Given the description of an element on the screen output the (x, y) to click on. 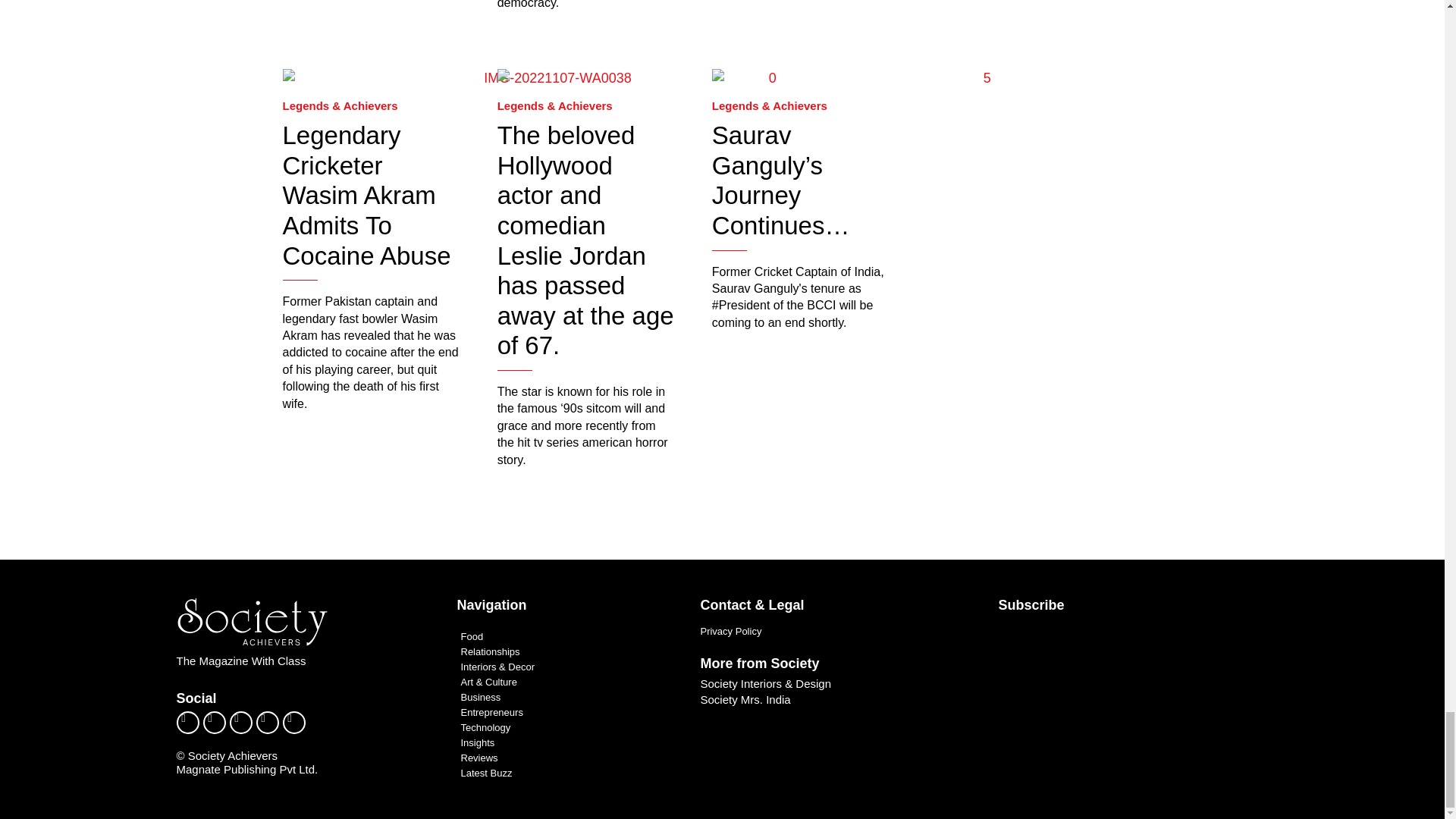
5 (980, 77)
IMG-20221107-WA0038 (551, 77)
0 (766, 77)
